Given the description of an element on the screen output the (x, y) to click on. 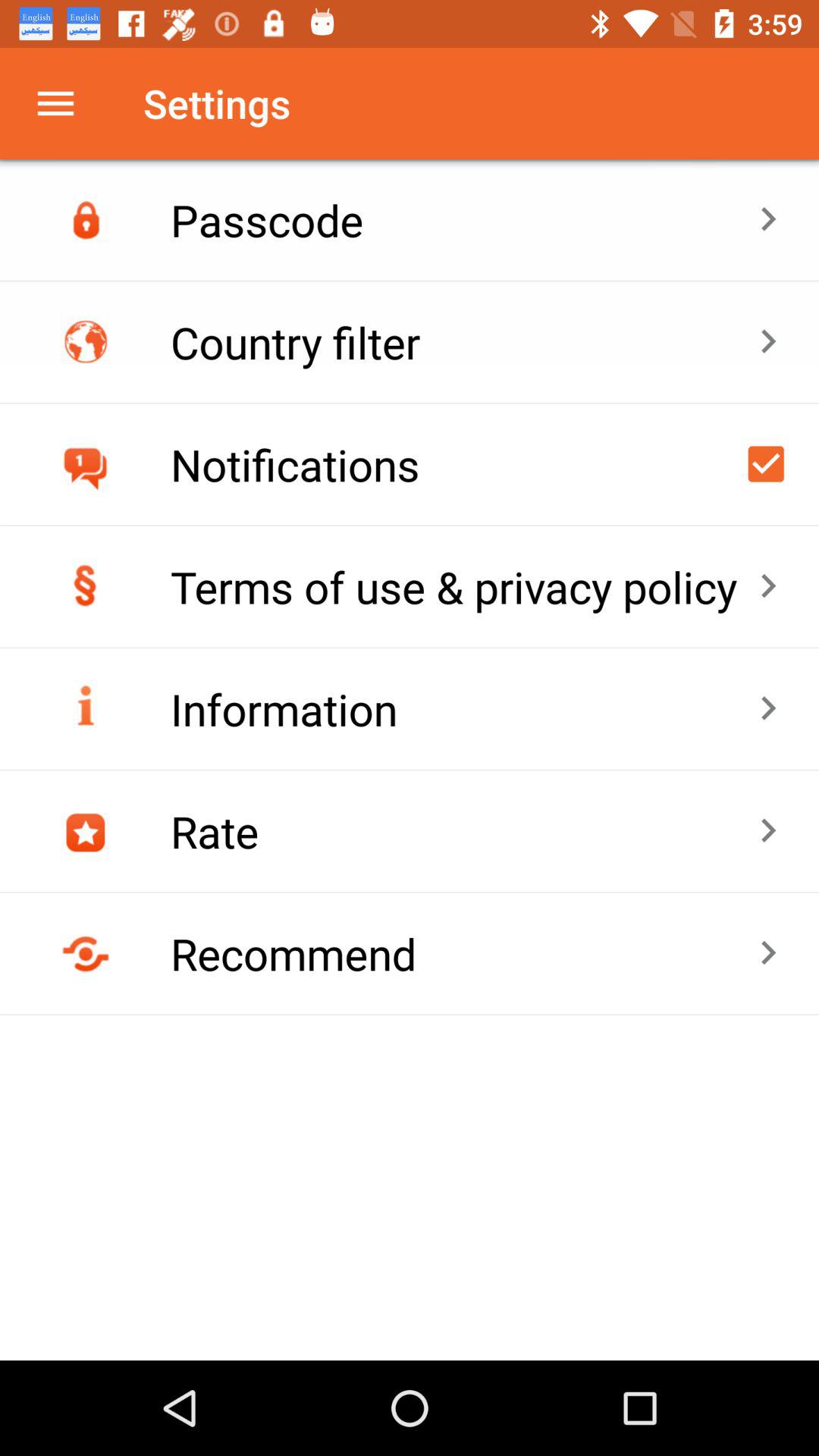
swipe to the terms of use item (464, 586)
